Given the description of an element on the screen output the (x, y) to click on. 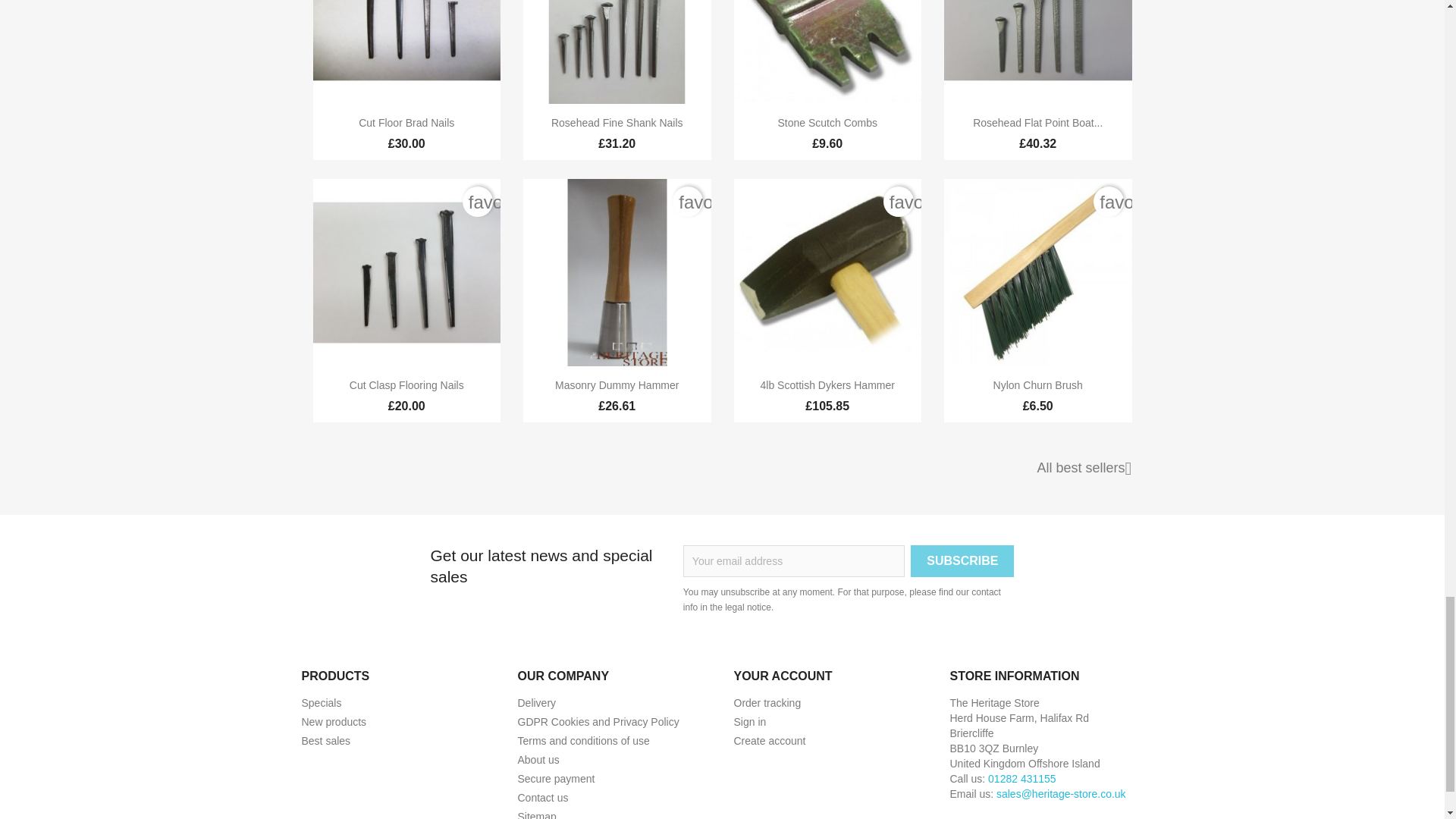
Learn more about us (537, 759)
Our best sales (325, 740)
Order tracking (767, 702)
Subscribe (962, 561)
Our terms and conditions of delivery (536, 702)
Our special products (321, 702)
Our new products (333, 721)
Log in to your customer account (750, 721)
Create account (769, 740)
Our terms and conditions of use (582, 740)
Lost ? Find what your are looking for (536, 814)
Legal notice of our privacy policy (597, 721)
Our secure payment mean (555, 778)
